Given the description of an element on the screen output the (x, y) to click on. 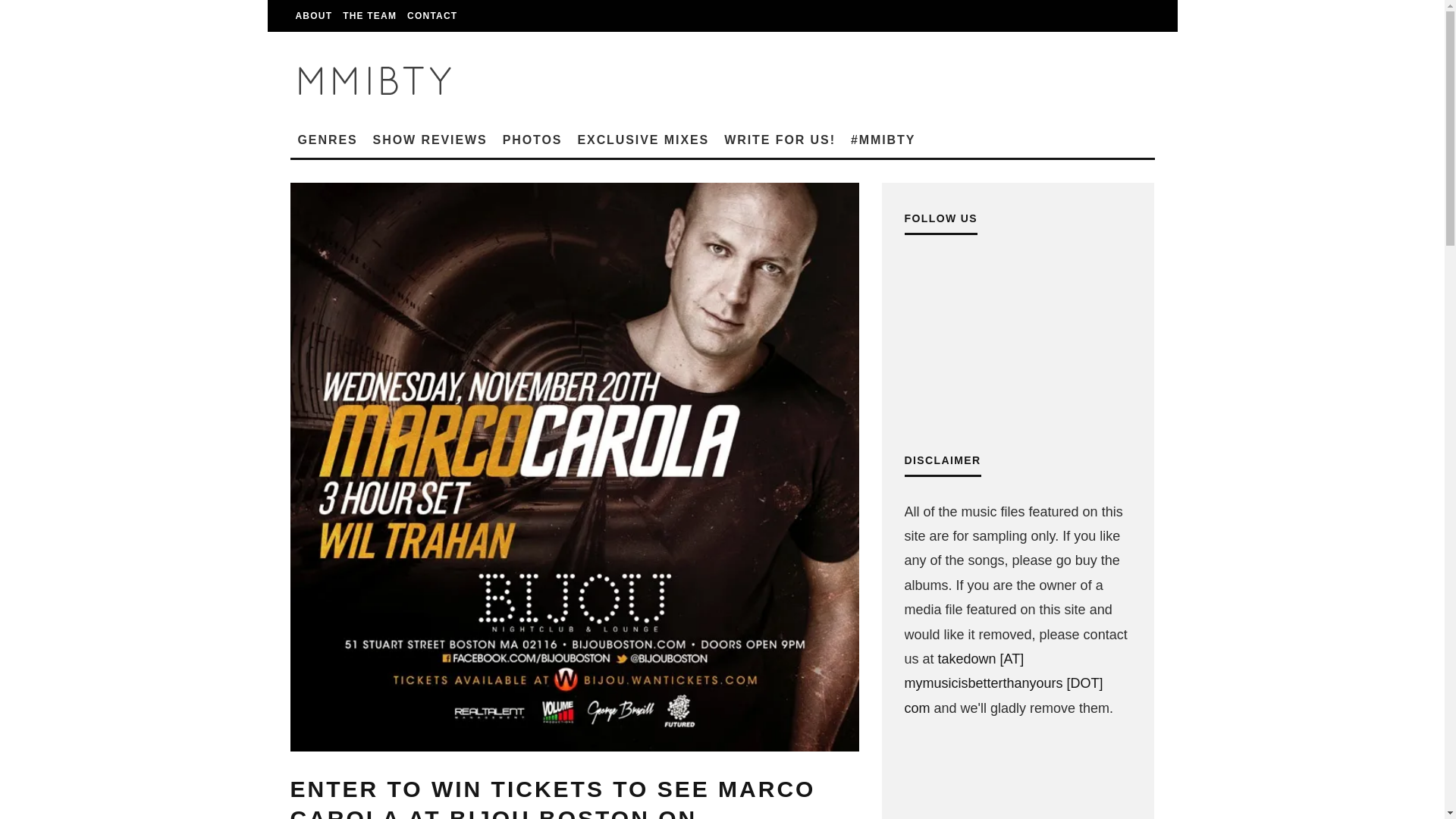
SHOW REVIEWS (430, 140)
THE TEAM (369, 15)
Advertisement (1017, 785)
CONTACT (432, 15)
ABOUT (313, 15)
PHOTOS (532, 140)
WRITE FOR US! (779, 140)
GENRES (327, 140)
EXCLUSIVE MIXES (642, 140)
